Given the description of an element on the screen output the (x, y) to click on. 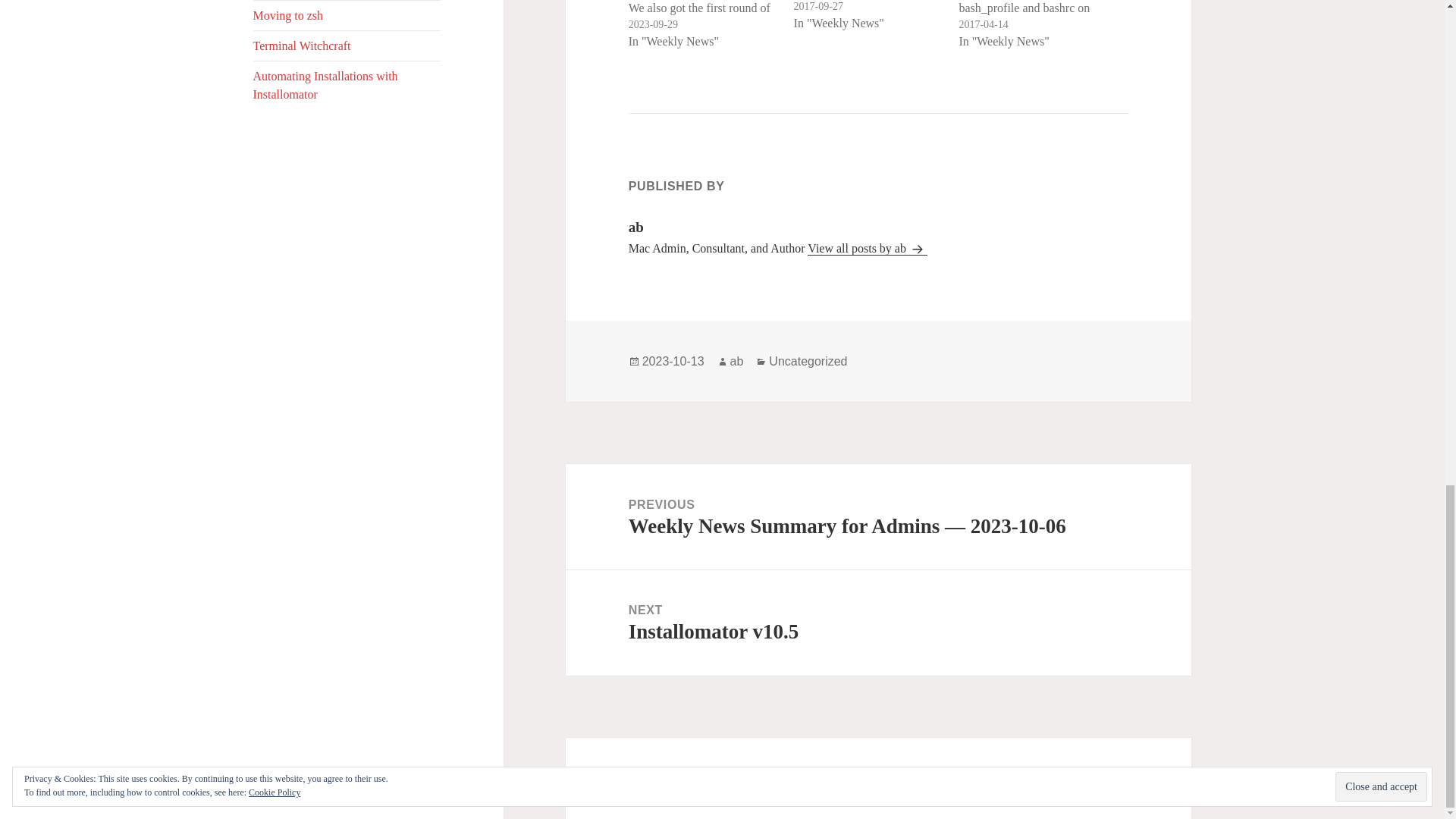
2023-10-13 (673, 361)
Terminal Witchcraft (301, 45)
ab (737, 361)
Automating Installations with Installomator (325, 84)
Moving to zsh (288, 15)
High Sierra News Summary (876, 16)
View all posts by ab (867, 248)
